Given the description of an element on the screen output the (x, y) to click on. 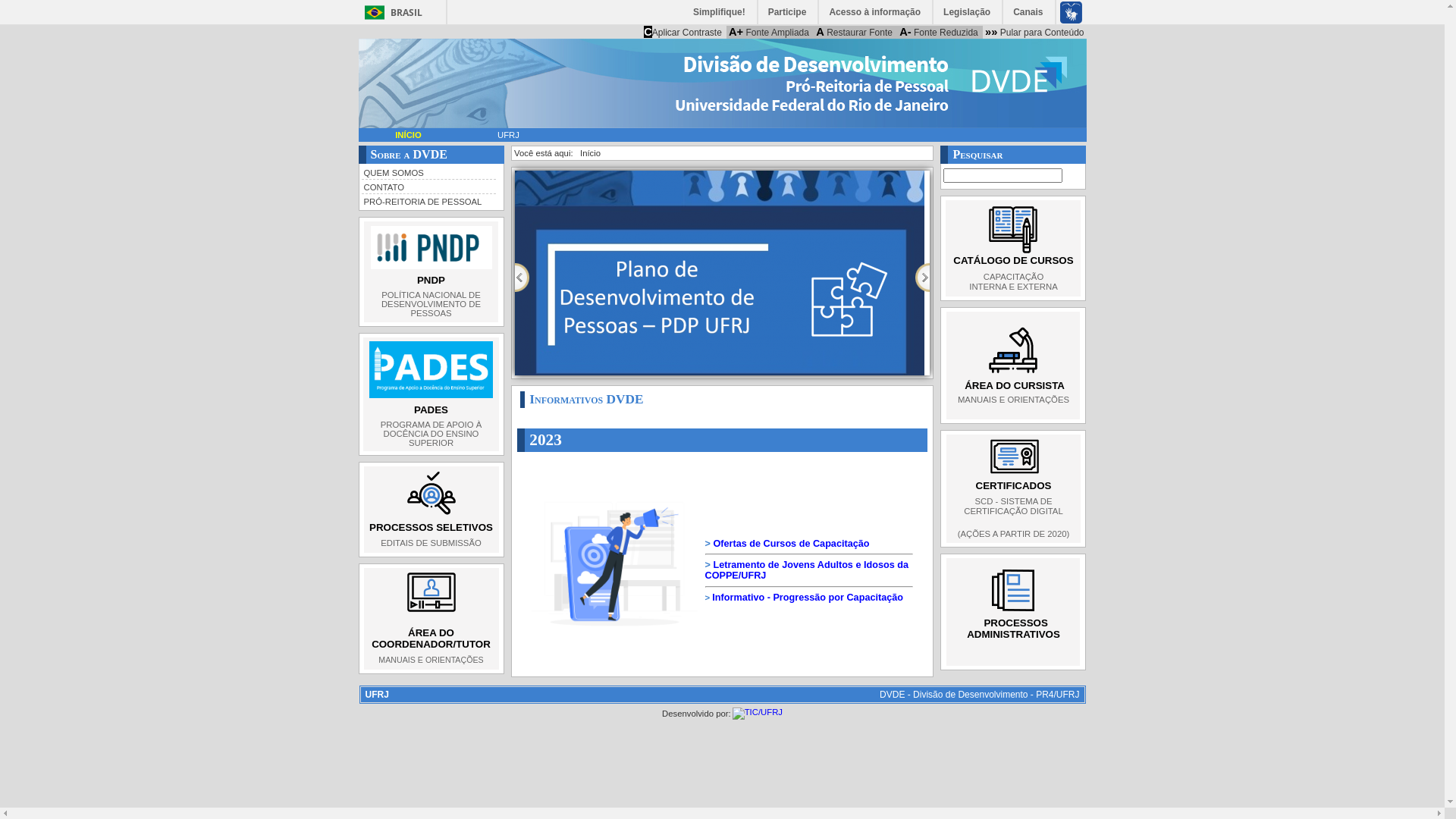
Participe Element type: text (788, 11)
BRASIL Element type: text (389, 12)
CAplicar Contraste Element type: text (682, 31)
UFRJ Element type: text (377, 694)
QUEM SOMOS Element type: text (427, 171)
PADES Element type: text (431, 409)
PNDP Element type: text (431, 280)
Canais Element type: text (1028, 11)
  PROCESSOS ADMINISTRATIVOS Element type: text (1013, 628)
Next Element type: text (922, 276)
A+ Fonte Ampliada Element type: text (768, 31)
Simplifique! Element type: text (719, 11)
PROCESSOS SELETIVOS Element type: text (430, 527)
Previous Element type: text (521, 276)
Letramento de Jovens Adultos e Idosos da COPPE/UFRJ Element type: text (807, 569)
CERTIFICADOS Element type: text (1013, 485)
UFRJ Element type: text (508, 134)
CONTATO Element type: text (427, 185)
A- Fonte Reduzida Element type: text (938, 31)
A Restaurar Fonte Element type: text (853, 31)
